Given the description of an element on the screen output the (x, y) to click on. 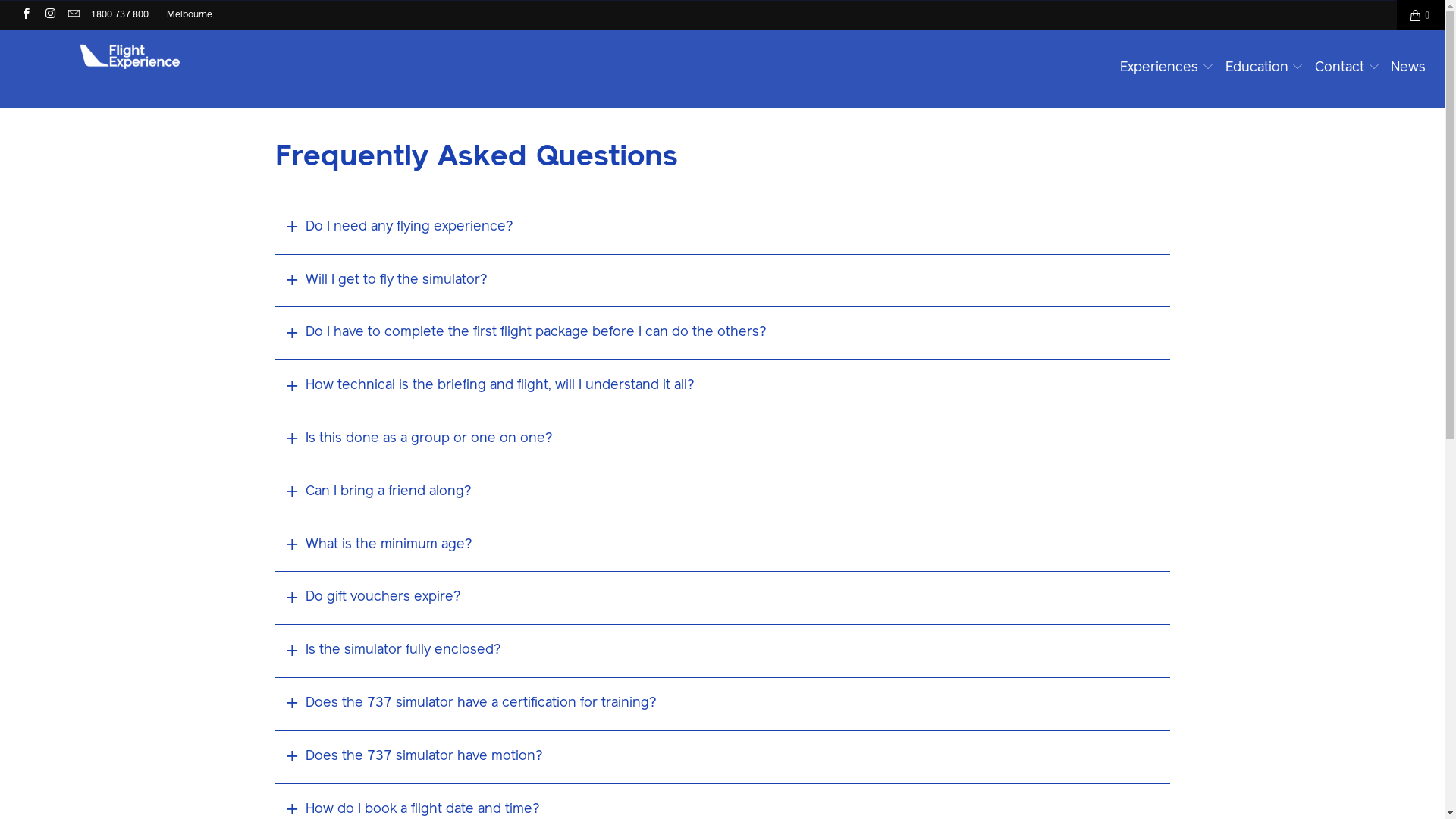
Is the simulator fully enclosed? Element type: text (721, 650)
Do gift vouchers expire? Element type: text (721, 597)
Does the 737 simulator have a certification for training? Element type: text (721, 704)
Flight Experience Melbourne Element type: hover (123, 53)
Flight Experience Melbourne on Instagram Element type: hover (48, 14)
Is this done as a group or one on one? Element type: text (721, 439)
Contact Element type: text (1347, 68)
Education Element type: text (1264, 68)
News Element type: text (1407, 68)
Flight Experience Melbourne on Facebook Element type: hover (24, 14)
Does the 737 simulator have motion? Element type: text (721, 757)
Experiences Element type: text (1167, 68)
1800 737 800 Element type: text (119, 15)
Email Flight Experience Melbourne Element type: hover (72, 14)
Will I get to fly the simulator? Element type: text (721, 280)
What is the minimum age? Element type: text (721, 545)
Can I bring a friend along? Element type: text (721, 492)
Do I need any flying experience? Element type: text (721, 227)
0 Element type: text (1420, 15)
Melbourne Element type: text (189, 15)
